Given the description of an element on the screen output the (x, y) to click on. 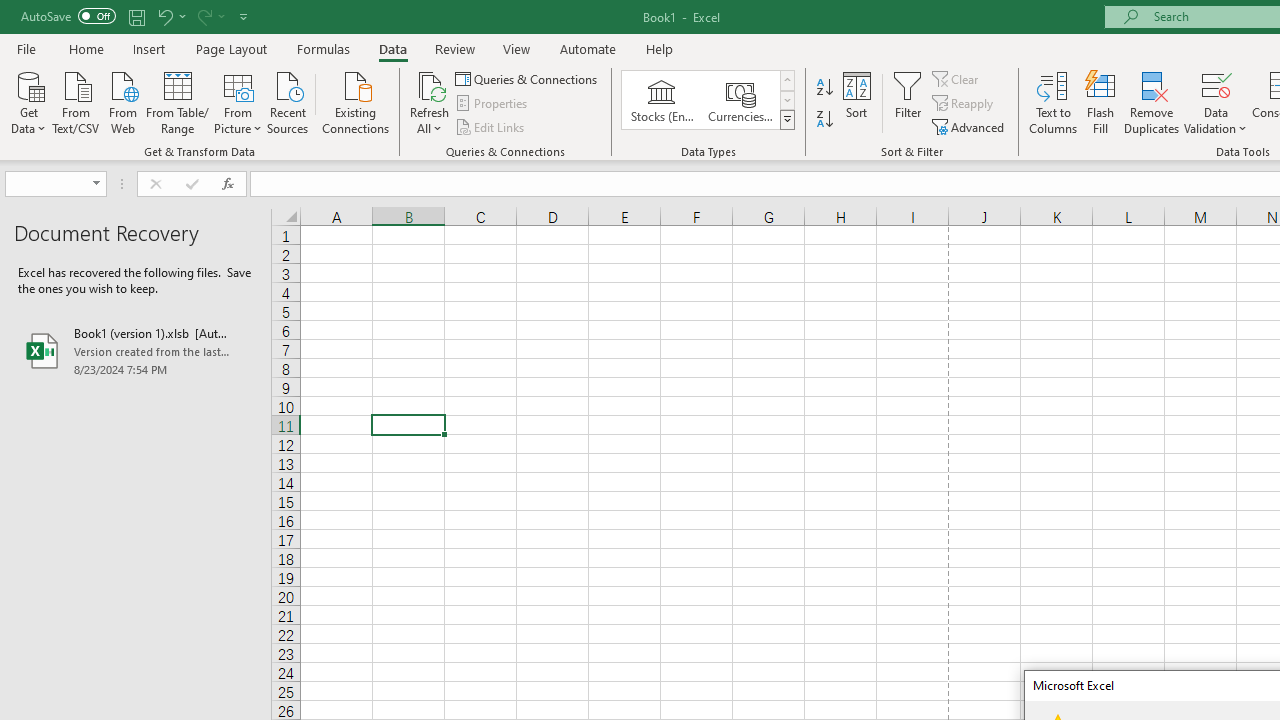
Save (136, 15)
Name Box (46, 183)
Properties (492, 103)
Data Types (786, 120)
AutoSave (68, 16)
Text to Columns... (1053, 102)
Refresh All (429, 102)
Book1 (version 1).xlsb  [AutoRecovered] (136, 350)
System (10, 11)
Name Box (56, 183)
Data Validation... (1215, 102)
Home (86, 48)
From Table/Range (177, 101)
Data Validation... (1215, 84)
